Given the description of an element on the screen output the (x, y) to click on. 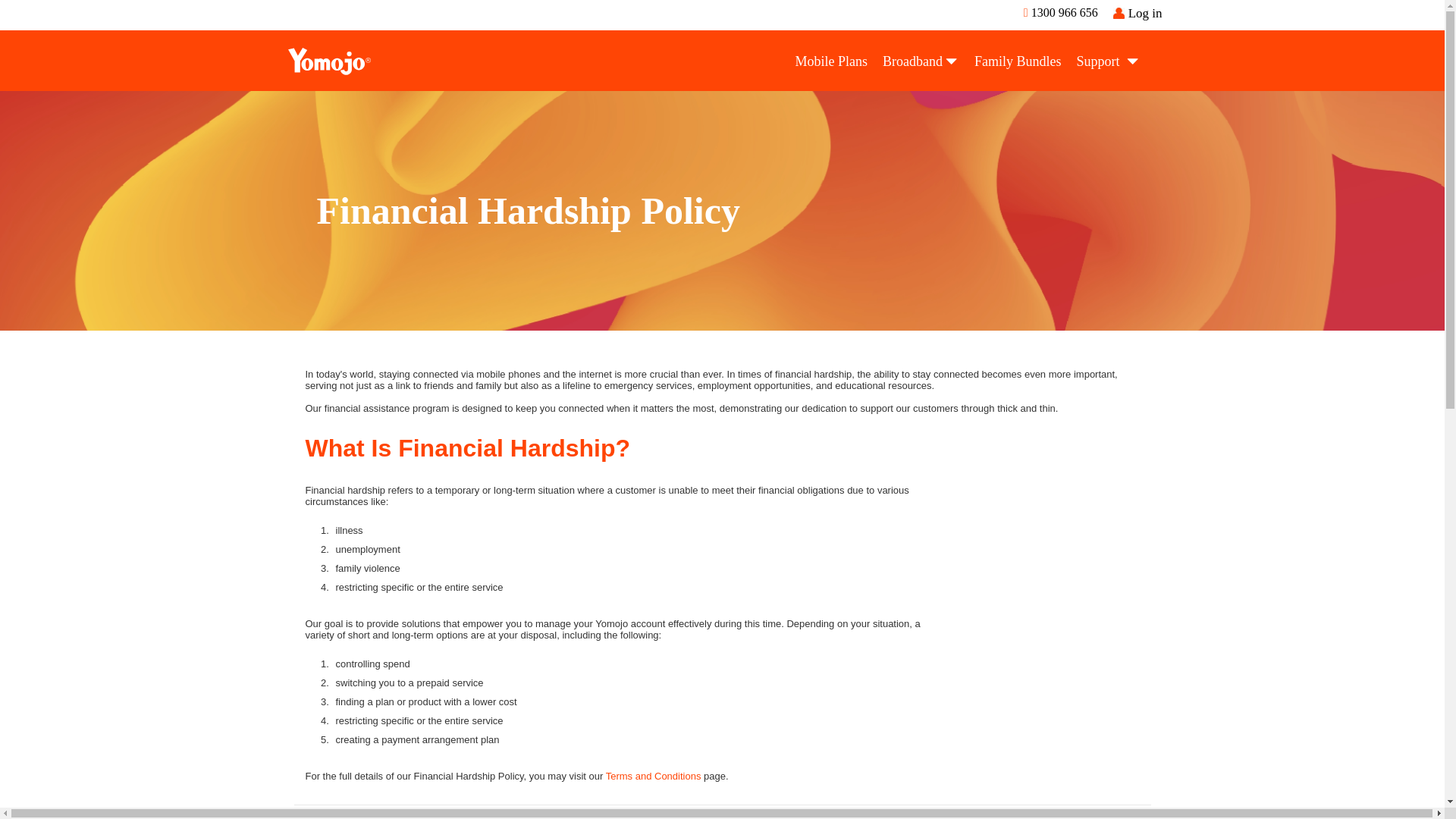
Terms and Conditions (653, 776)
1300 966 656 (1060, 11)
Support (1111, 61)
Family Bundles (1017, 61)
Broadband (920, 61)
Log in (1137, 12)
Mobile Plans (830, 61)
